Given the description of an element on the screen output the (x, y) to click on. 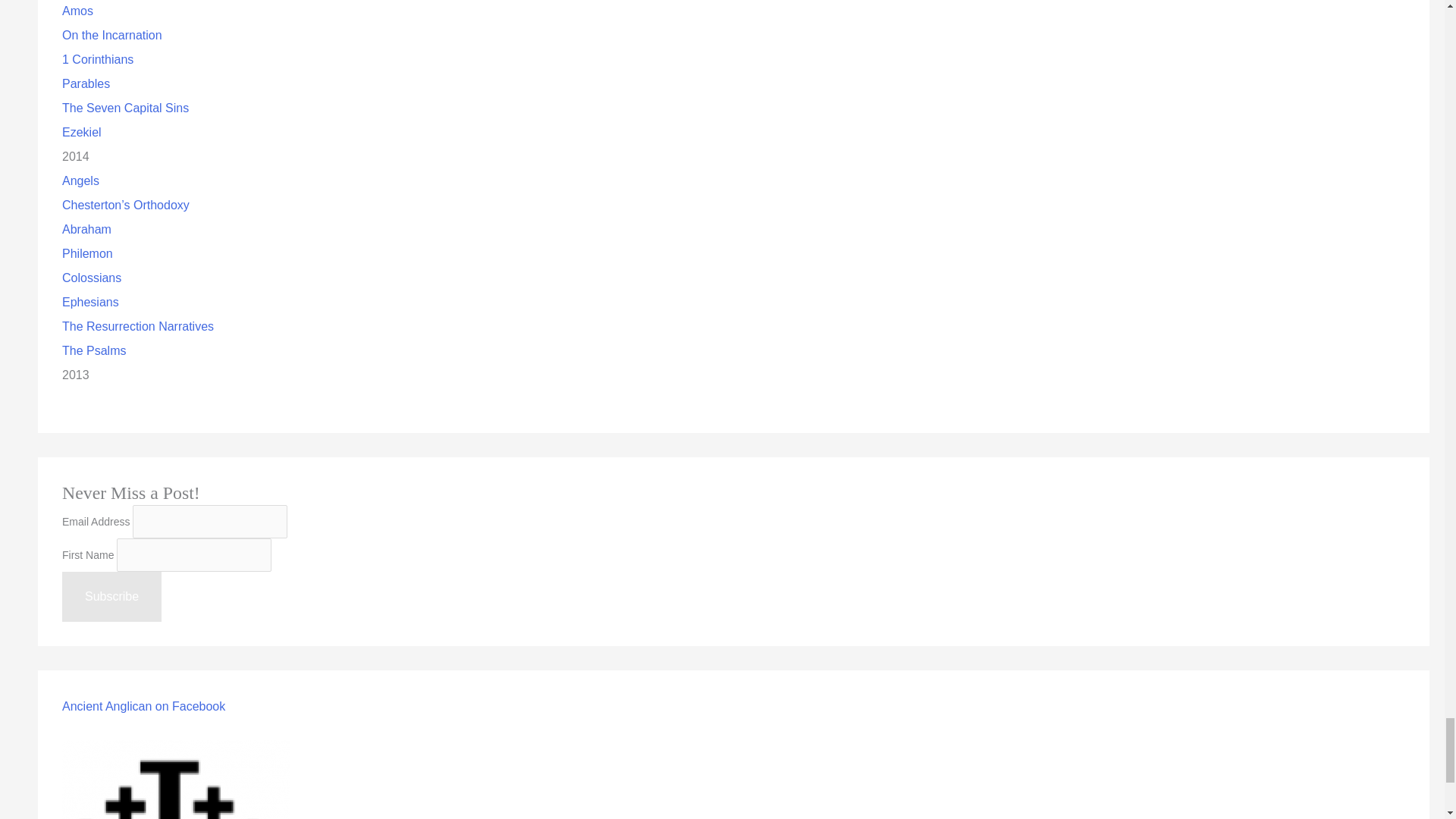
Subscribe (111, 596)
